Given the description of an element on the screen output the (x, y) to click on. 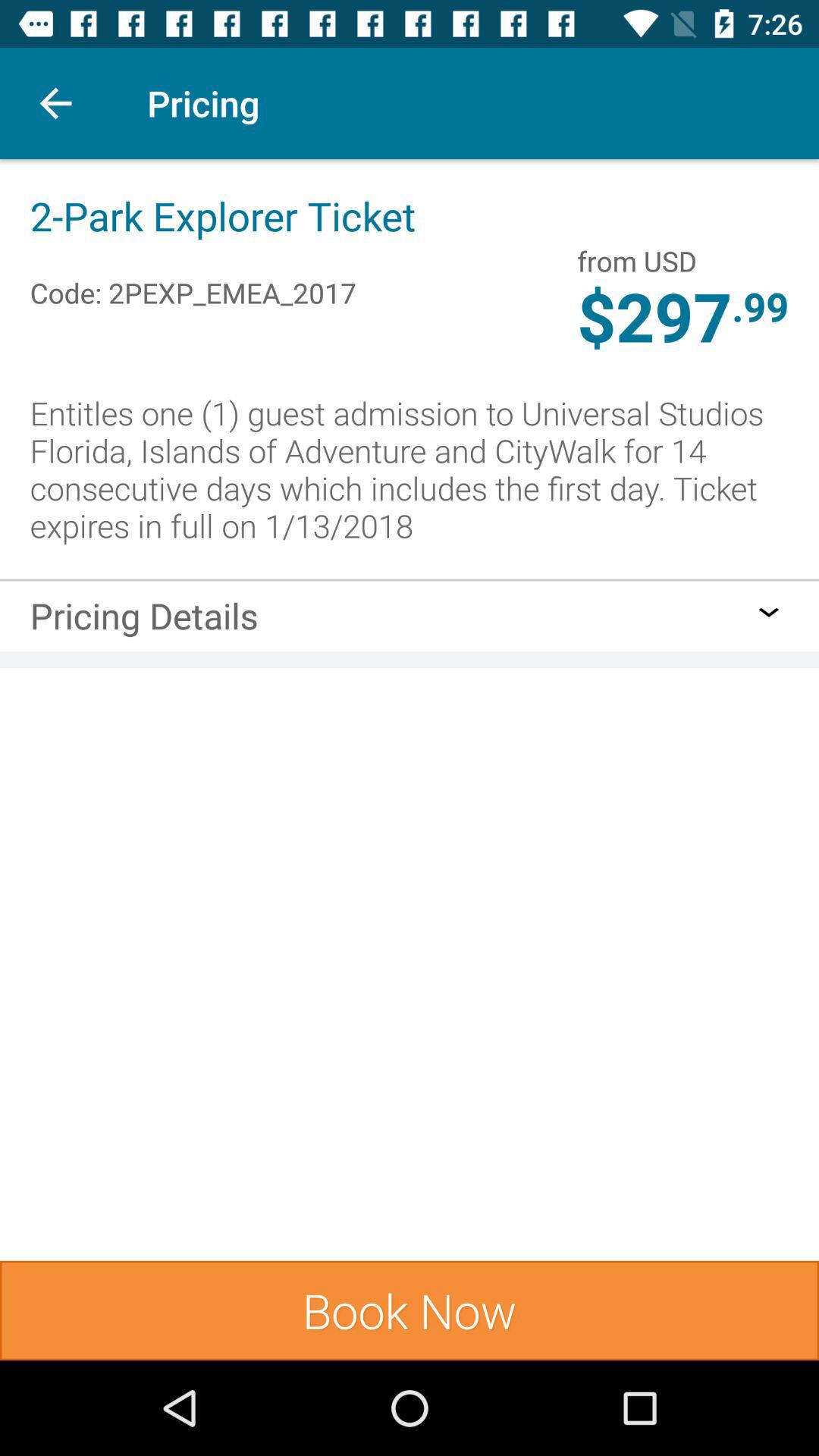
tap book now (409, 1310)
